Given the description of an element on the screen output the (x, y) to click on. 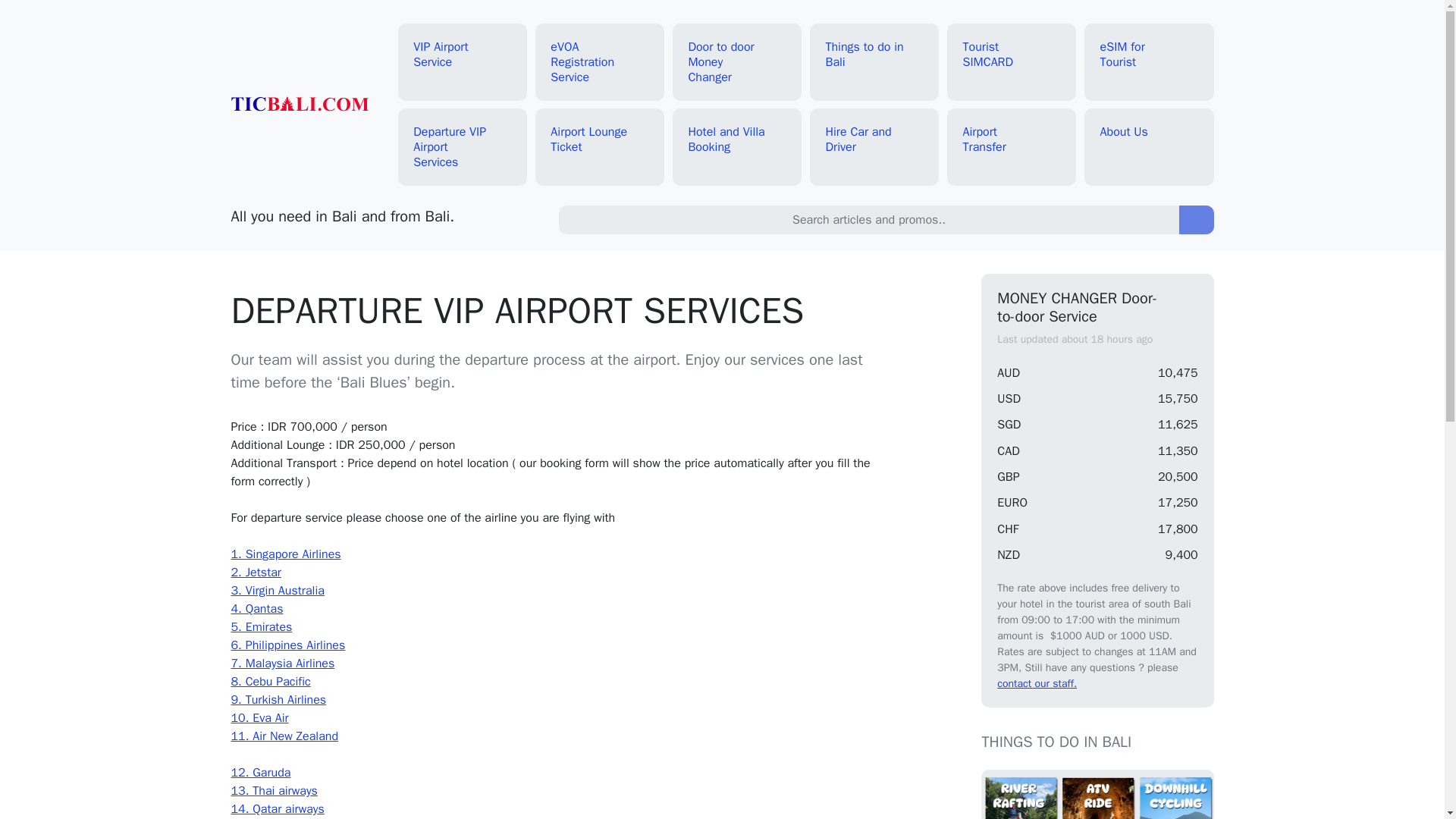
Departure VIP Airport Services (462, 146)
Hire Car and Driver (874, 139)
Airport Lounge Ticket (600, 139)
Hotel and Villa Booking (737, 139)
Door to door Money Changer (737, 61)
Tourist SIMCARD (1012, 54)
Things to do in Bali (874, 54)
eVOA Registration Service (600, 61)
eSIM for Tourist (1149, 54)
VIP Airport Service (462, 54)
Airport Transfer (1012, 139)
contact our staff. (1037, 683)
About Us (1149, 131)
